Given the description of an element on the screen output the (x, y) to click on. 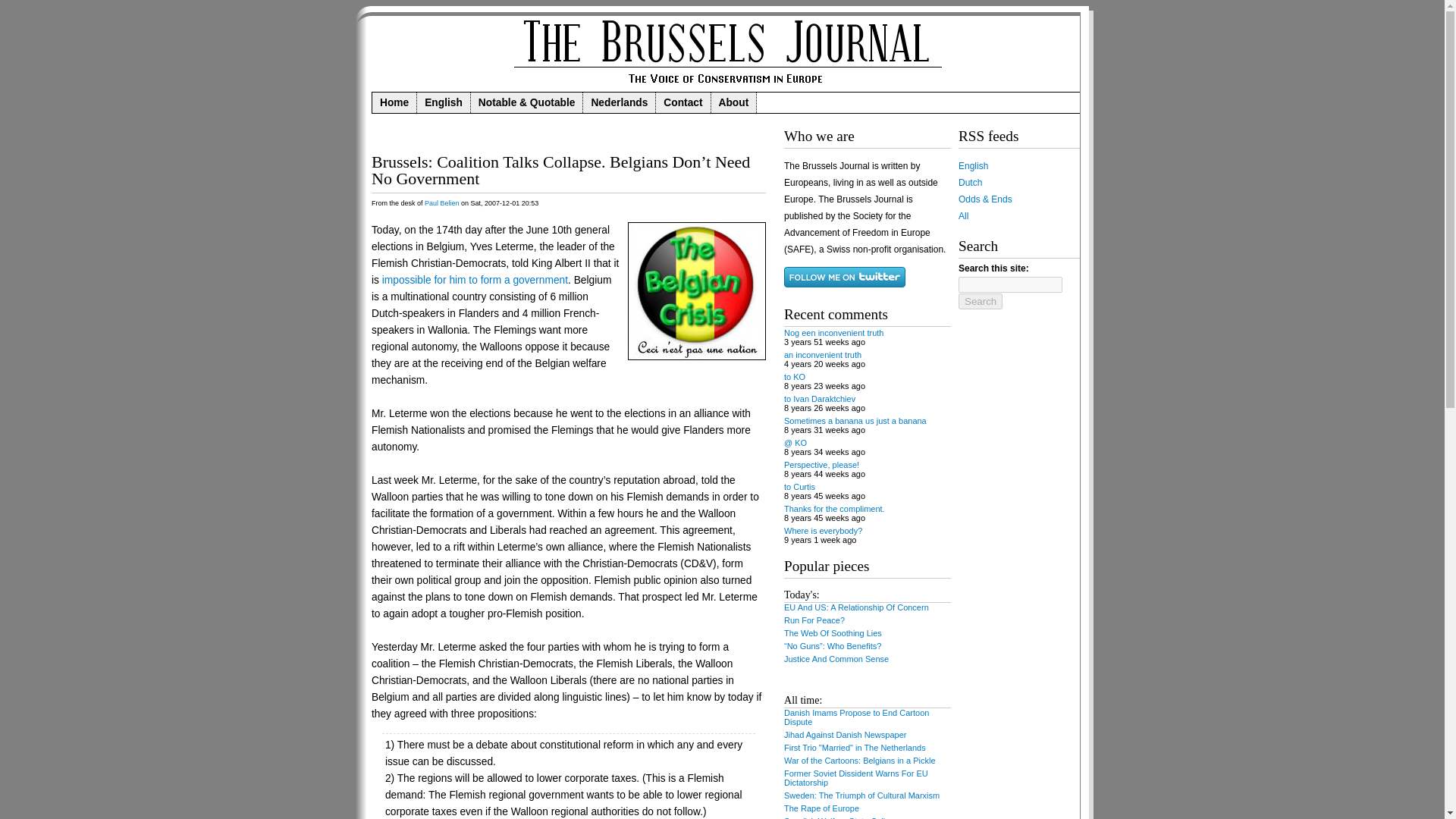
an inconvenient truth (822, 354)
Sometimes a banana us just a banana (855, 420)
Nog een inconvenient truth (833, 332)
Run For Peace? (814, 619)
to Ivan Daraktchiev (820, 398)
Search (980, 301)
Thanks for the compliment. (834, 508)
EU And US: A Relationship Of Concern (856, 606)
Nederlands (619, 102)
Danish Imams Propose to End Cartoon Dispute (856, 717)
